Given the description of an element on the screen output the (x, y) to click on. 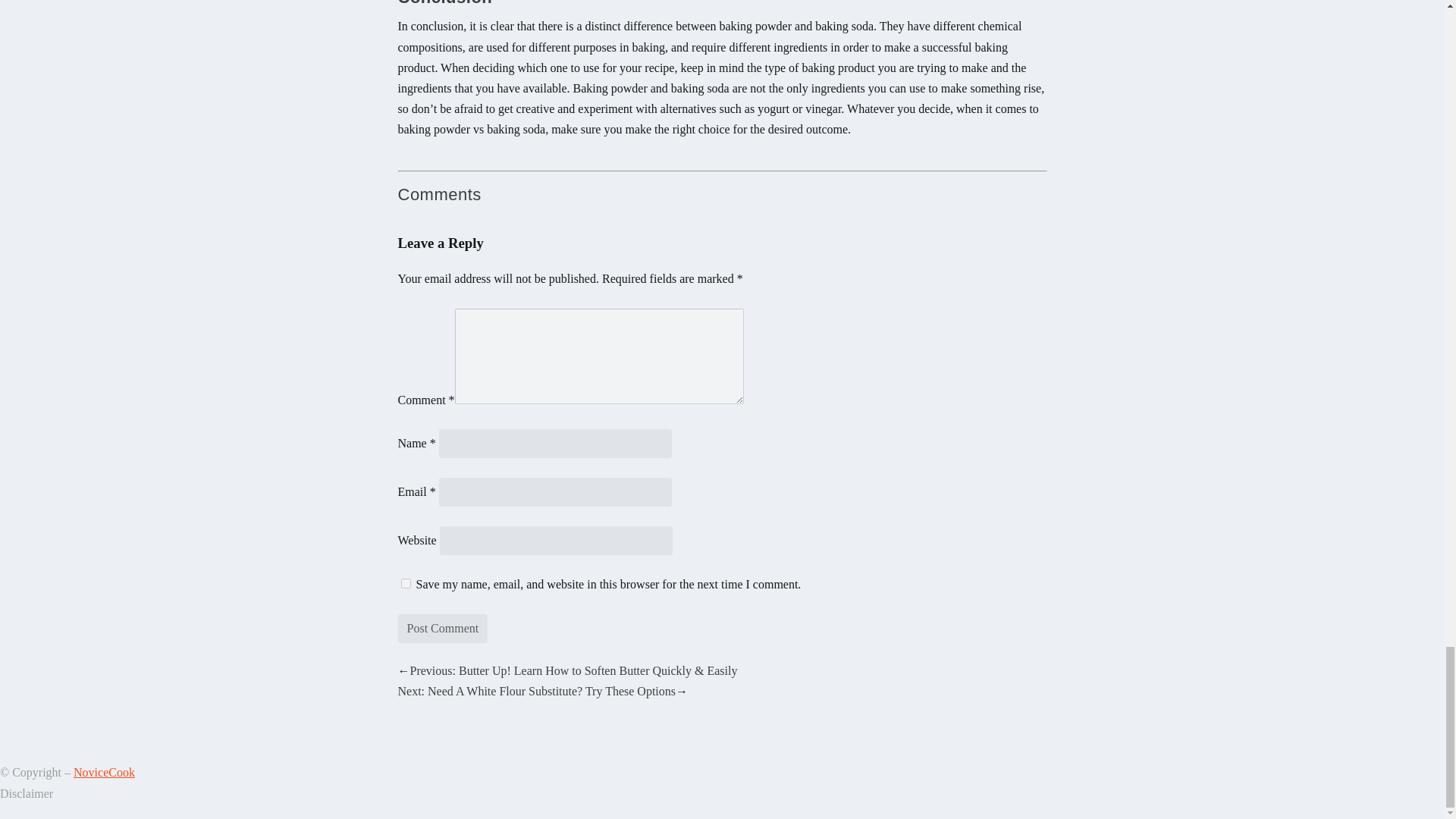
NoviceCook (104, 771)
yes (405, 583)
Next: Need A White Flour Substitute? Try These Options (536, 690)
Post Comment (442, 628)
Disclaimer (26, 793)
Post Comment (442, 628)
